Given the description of an element on the screen output the (x, y) to click on. 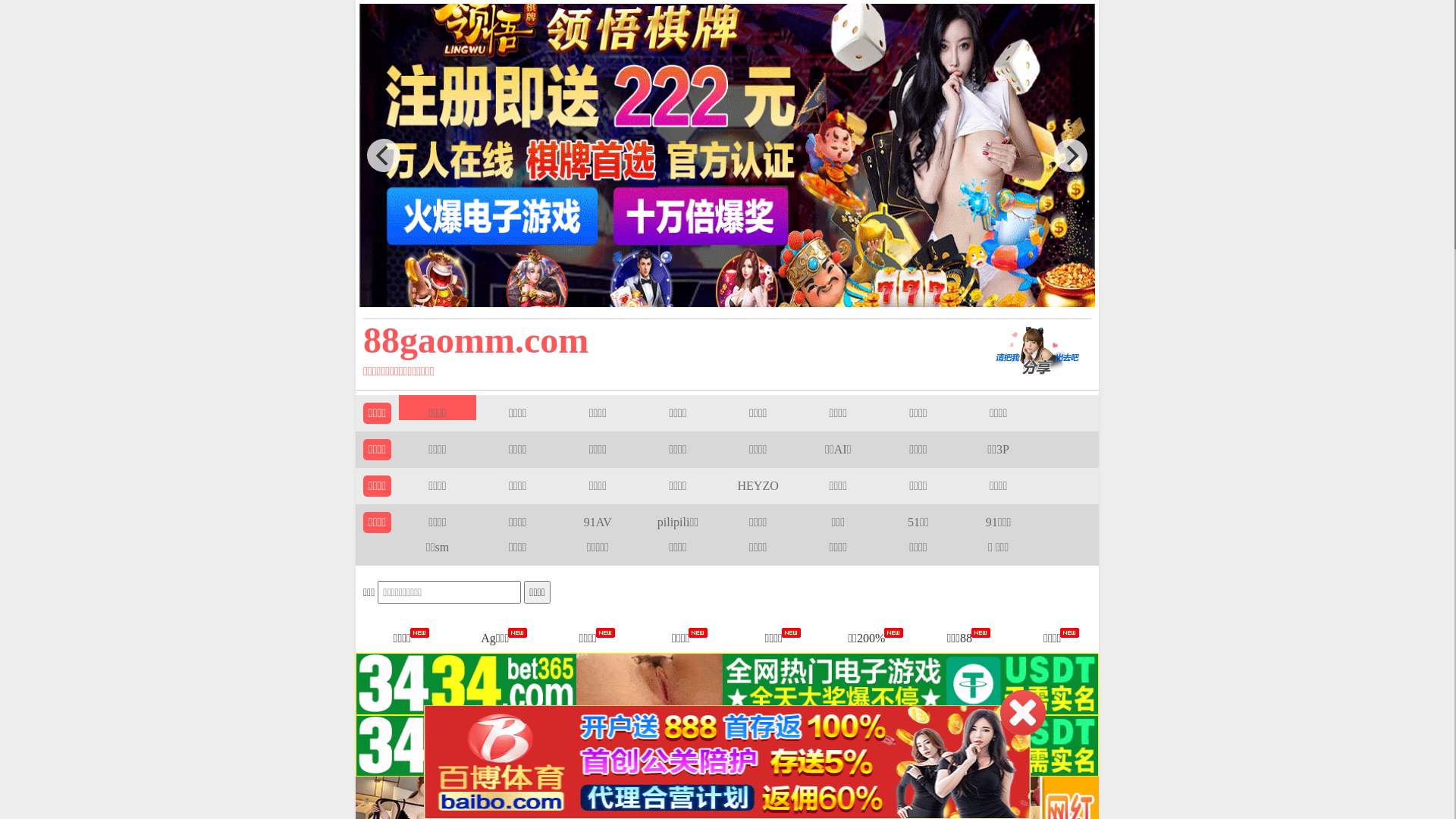
91AV Element type: text (597, 521)
HEYZO Element type: text (757, 485)
88gaomm.com Element type: text (654, 339)
